Given the description of an element on the screen output the (x, y) to click on. 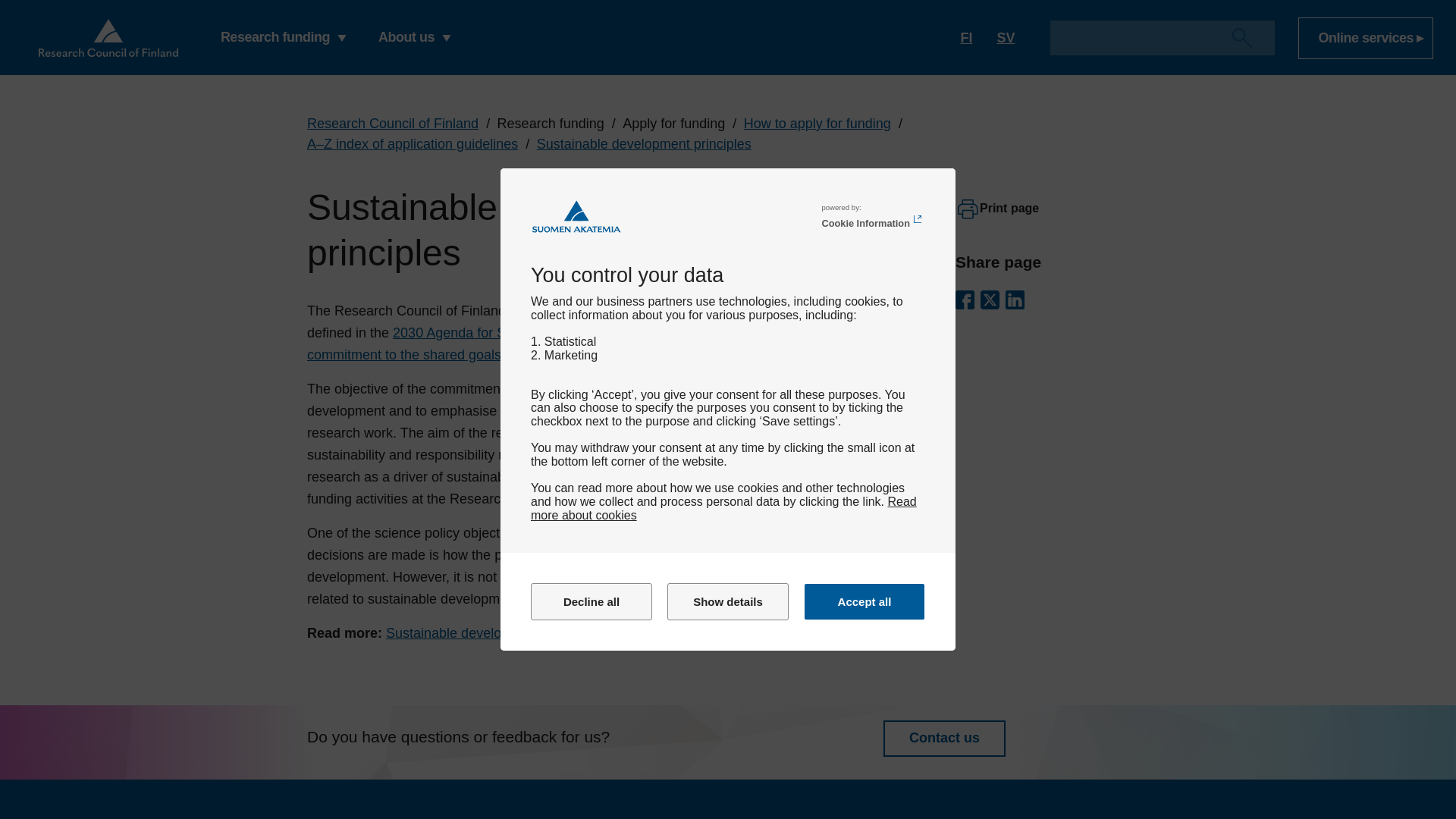
Show details (727, 601)
Accept all (863, 601)
Cookie Information (872, 220)
Read more about cookies (724, 508)
Decline all (591, 601)
